Given the description of an element on the screen output the (x, y) to click on. 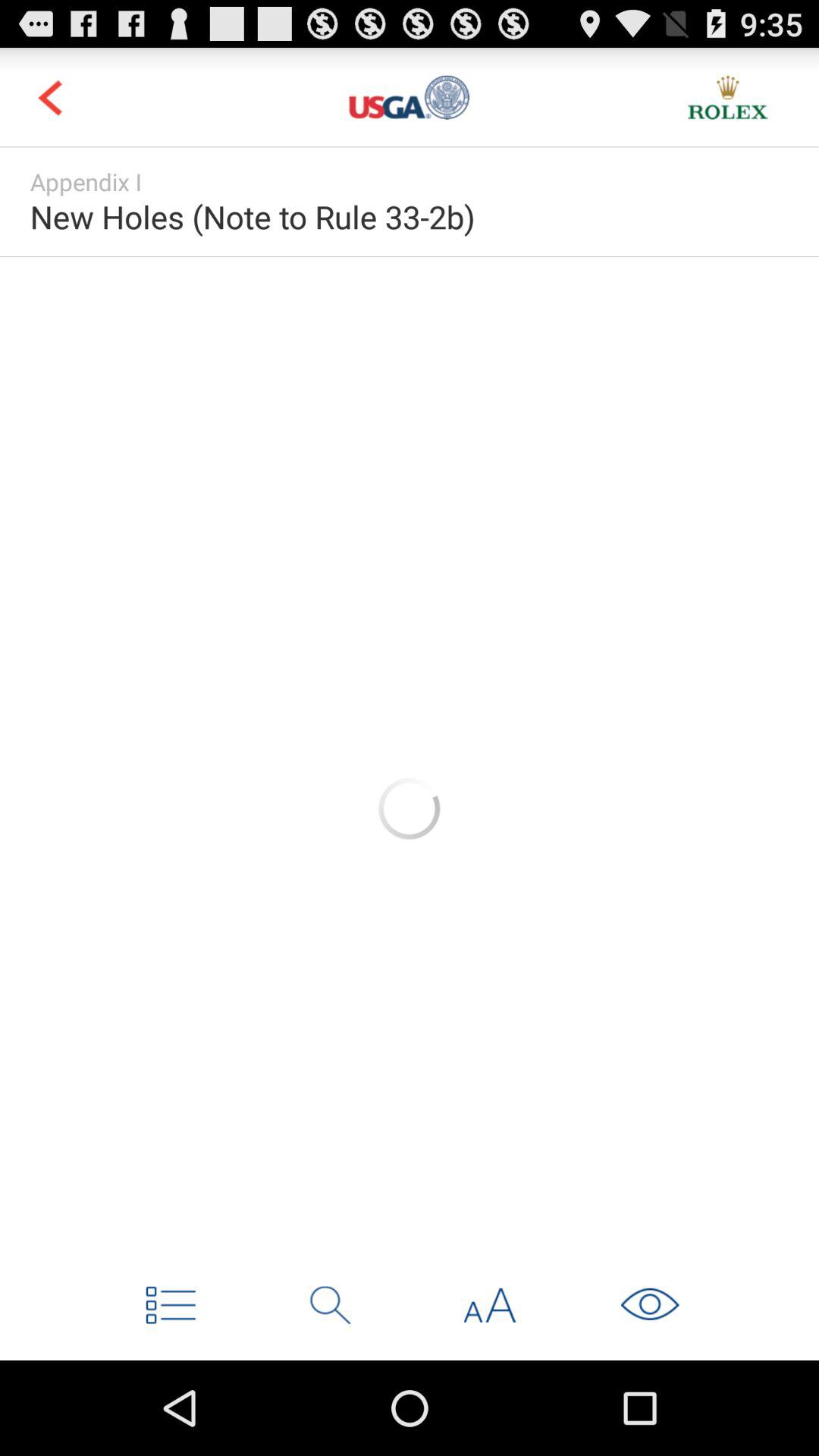
go to back (49, 97)
